Given the description of an element on the screen output the (x, y) to click on. 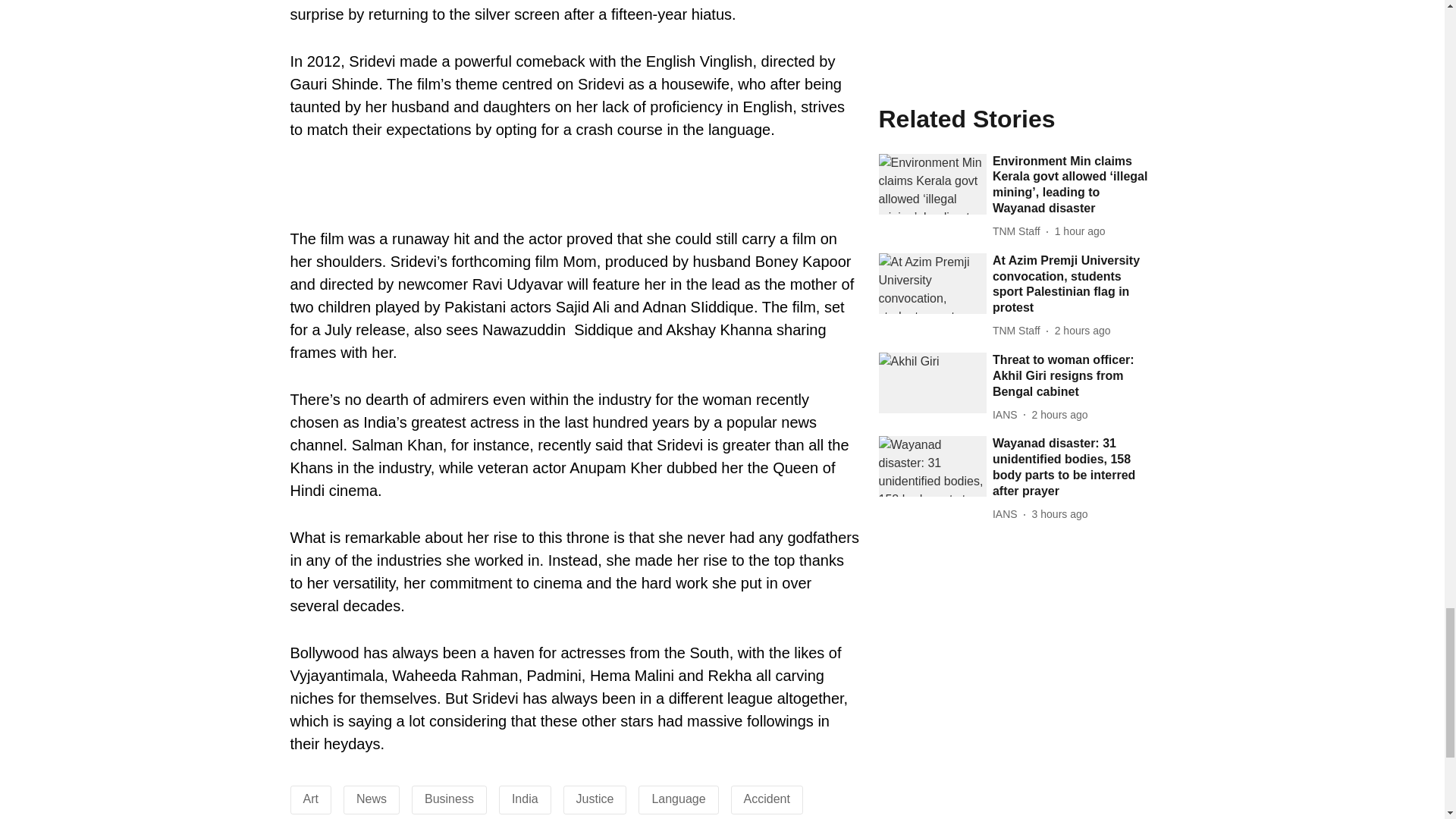
Business (449, 798)
India (525, 798)
Justice (595, 798)
Language (677, 798)
Accident (767, 798)
Art (310, 798)
News (371, 798)
